Given the description of an element on the screen output the (x, y) to click on. 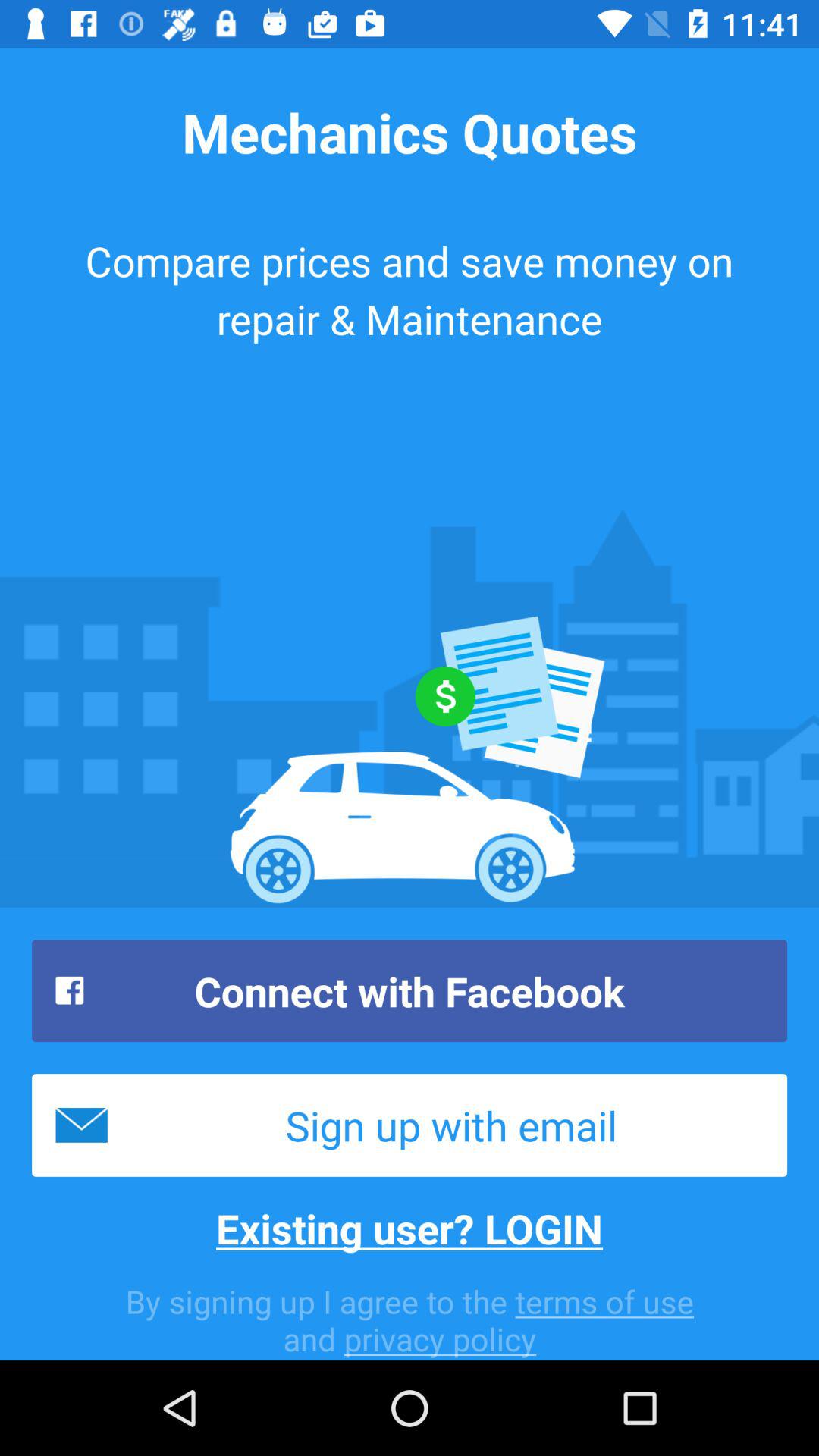
swipe to existing user? login item (409, 1227)
